Given the description of an element on the screen output the (x, y) to click on. 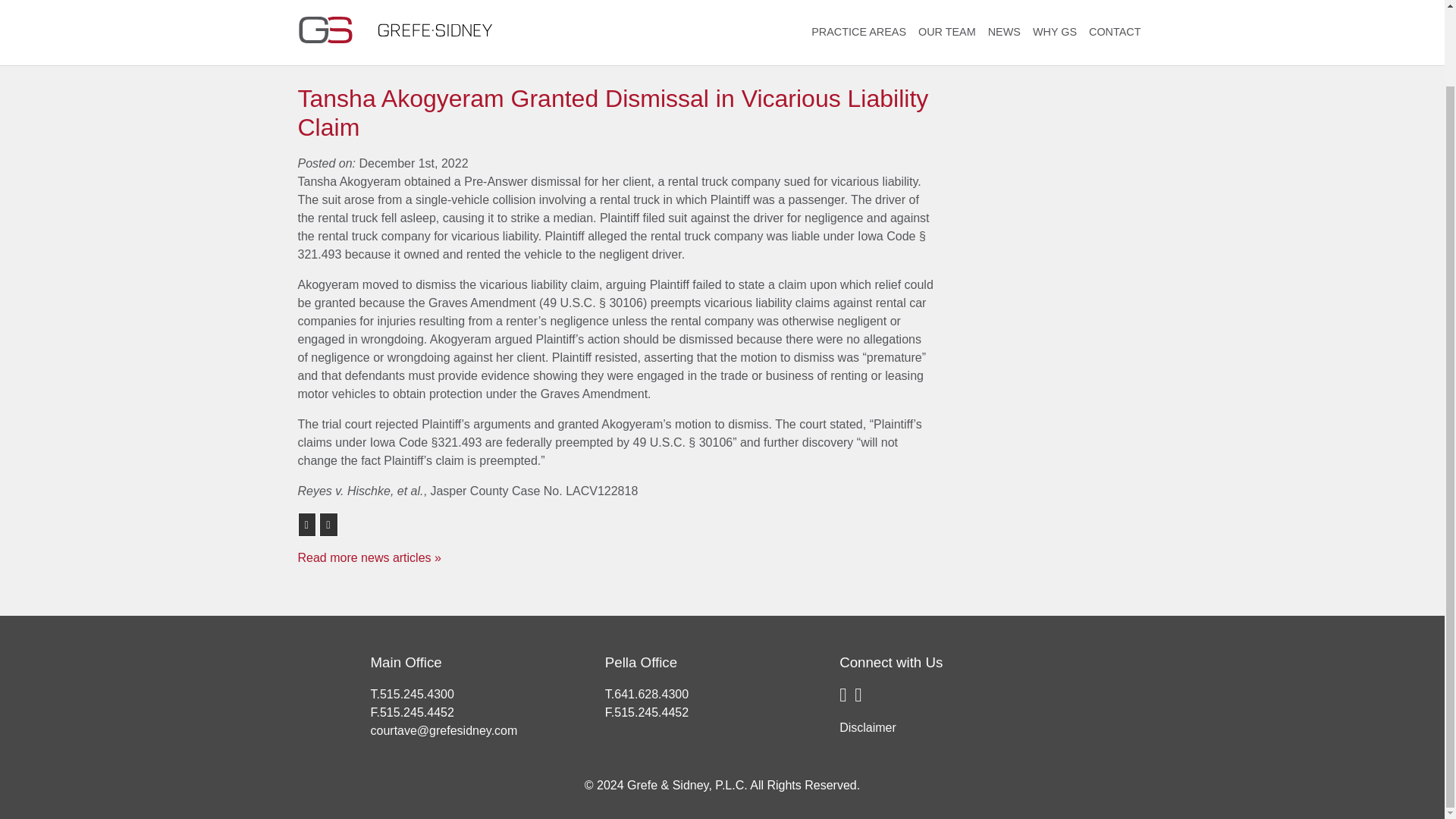
Pella Office (641, 662)
515.245.4300 (417, 694)
Main Office (405, 662)
Disclaimer (868, 727)
641.628.4300 (651, 694)
